Given the description of an element on the screen output the (x, y) to click on. 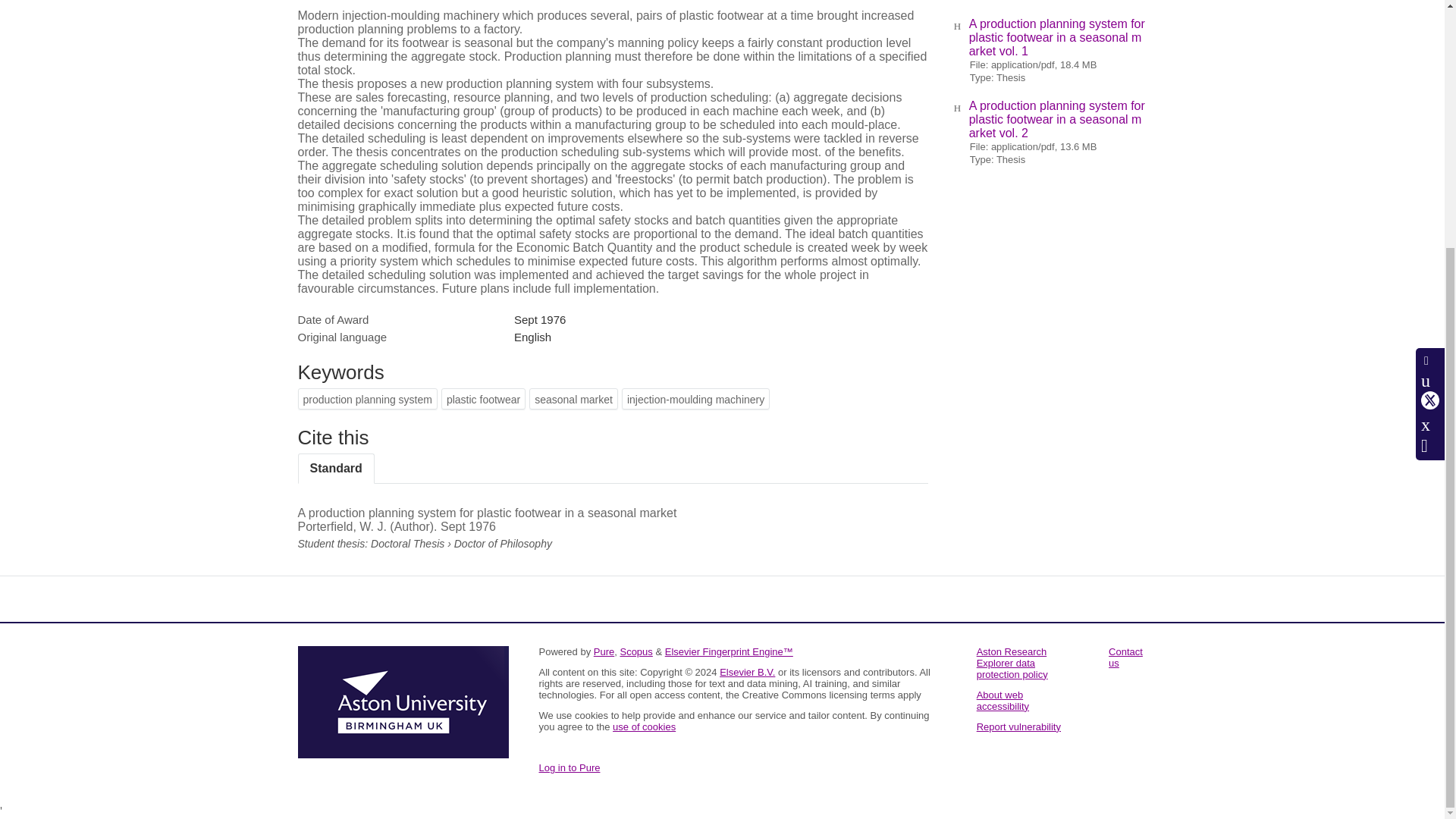
Elsevier B.V. (746, 672)
Contact us (1125, 657)
About web accessibility (1002, 700)
Log in to Pure (568, 767)
Report vulnerability (1018, 726)
use of cookies (643, 726)
Scopus (636, 651)
Pure (604, 651)
Aston Research Explorer data protection policy (1012, 663)
